Given the description of an element on the screen output the (x, y) to click on. 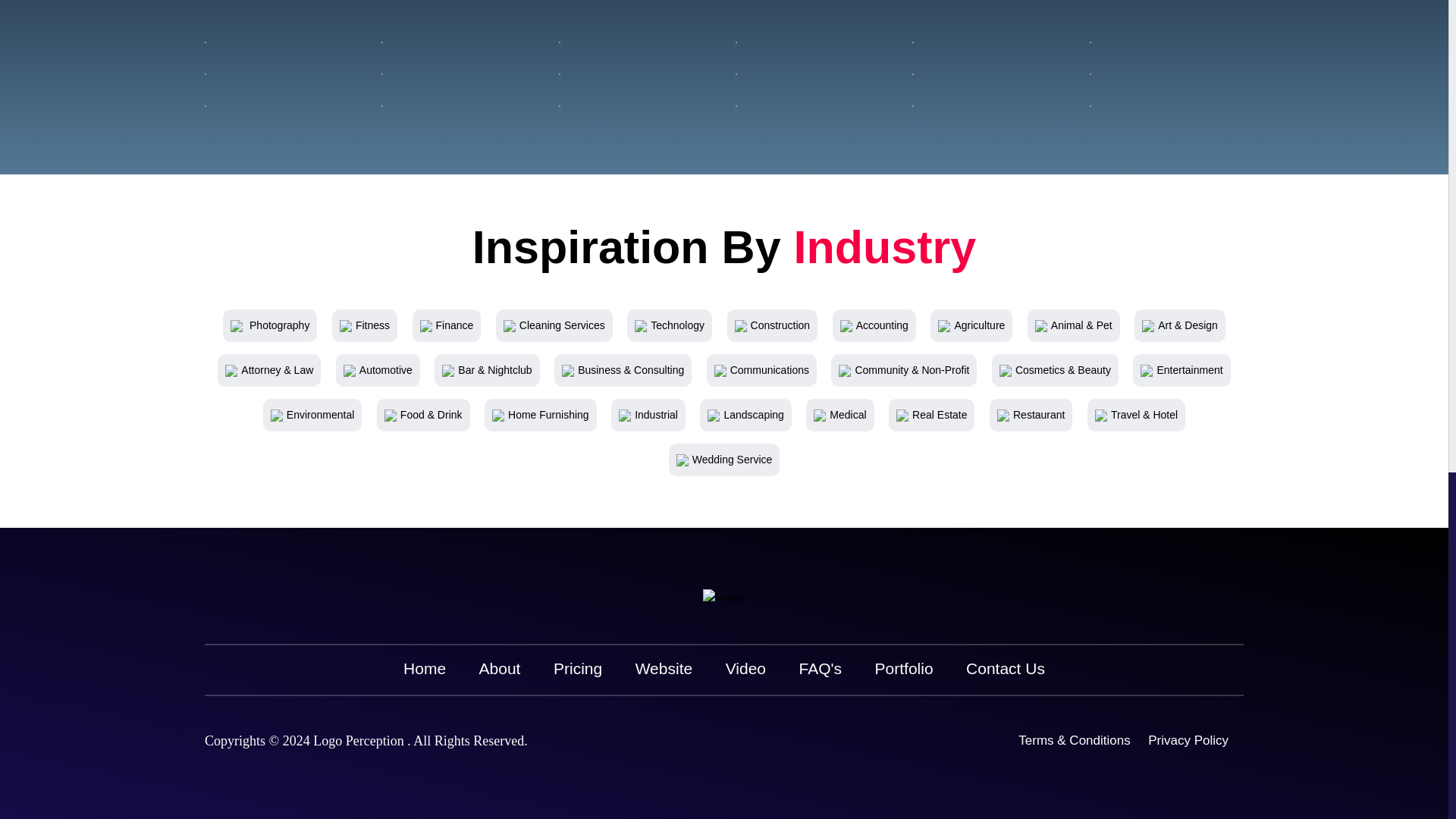
Finance (447, 325)
Fitness (364, 325)
Agriculture (970, 325)
Technology (669, 325)
Cleaning Services (554, 325)
Accounting (874, 325)
Photography (269, 325)
Construction (772, 325)
